Given the description of an element on the screen output the (x, y) to click on. 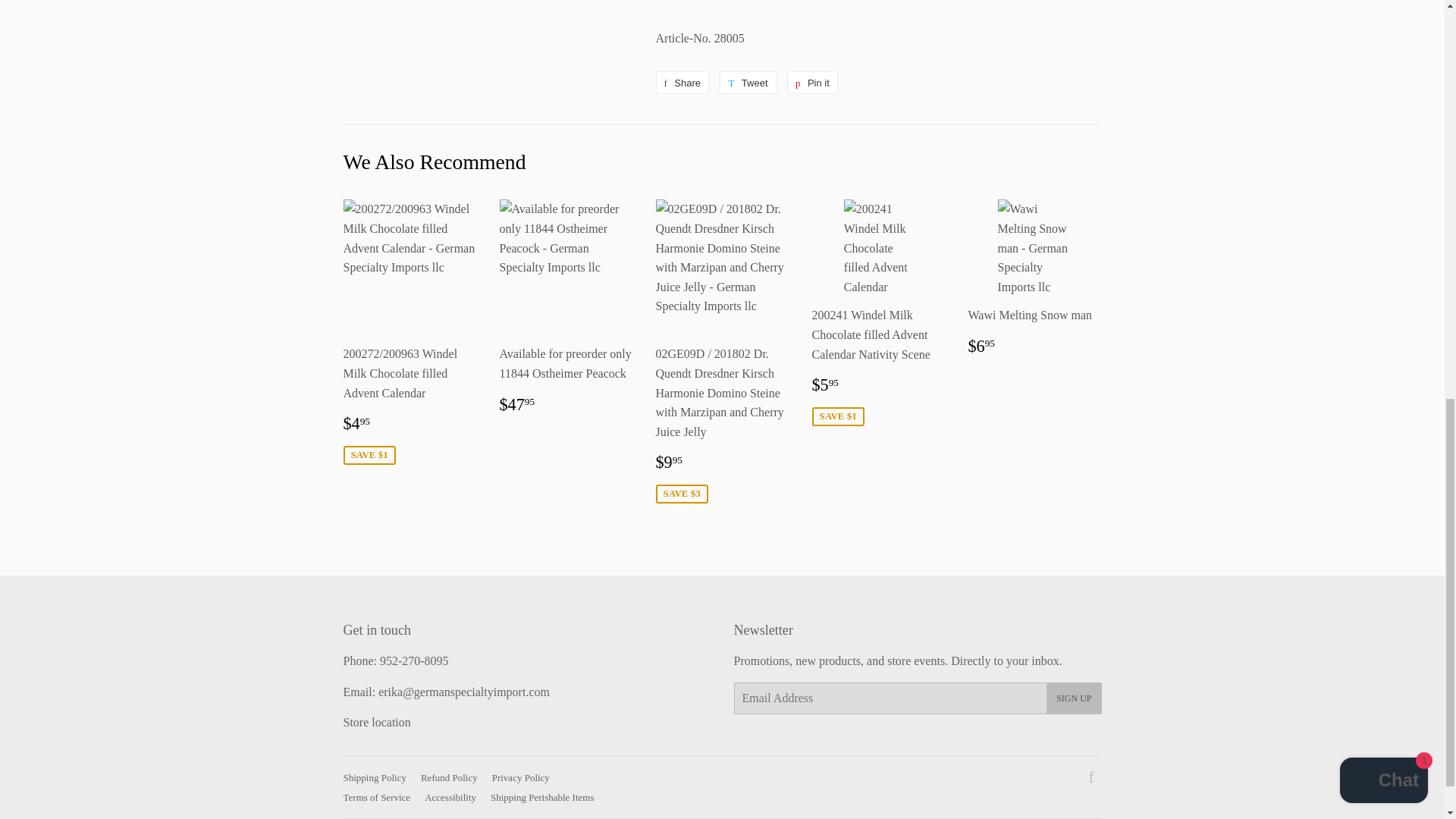
Visit the Store (376, 721)
Share on Facebook (682, 82)
Tweet on Twitter (747, 82)
Pin on Pinterest (812, 82)
German Specialty Imports llc on Facebook (1091, 778)
tel:952-270-8095 (414, 660)
